Given the description of an element on the screen output the (x, y) to click on. 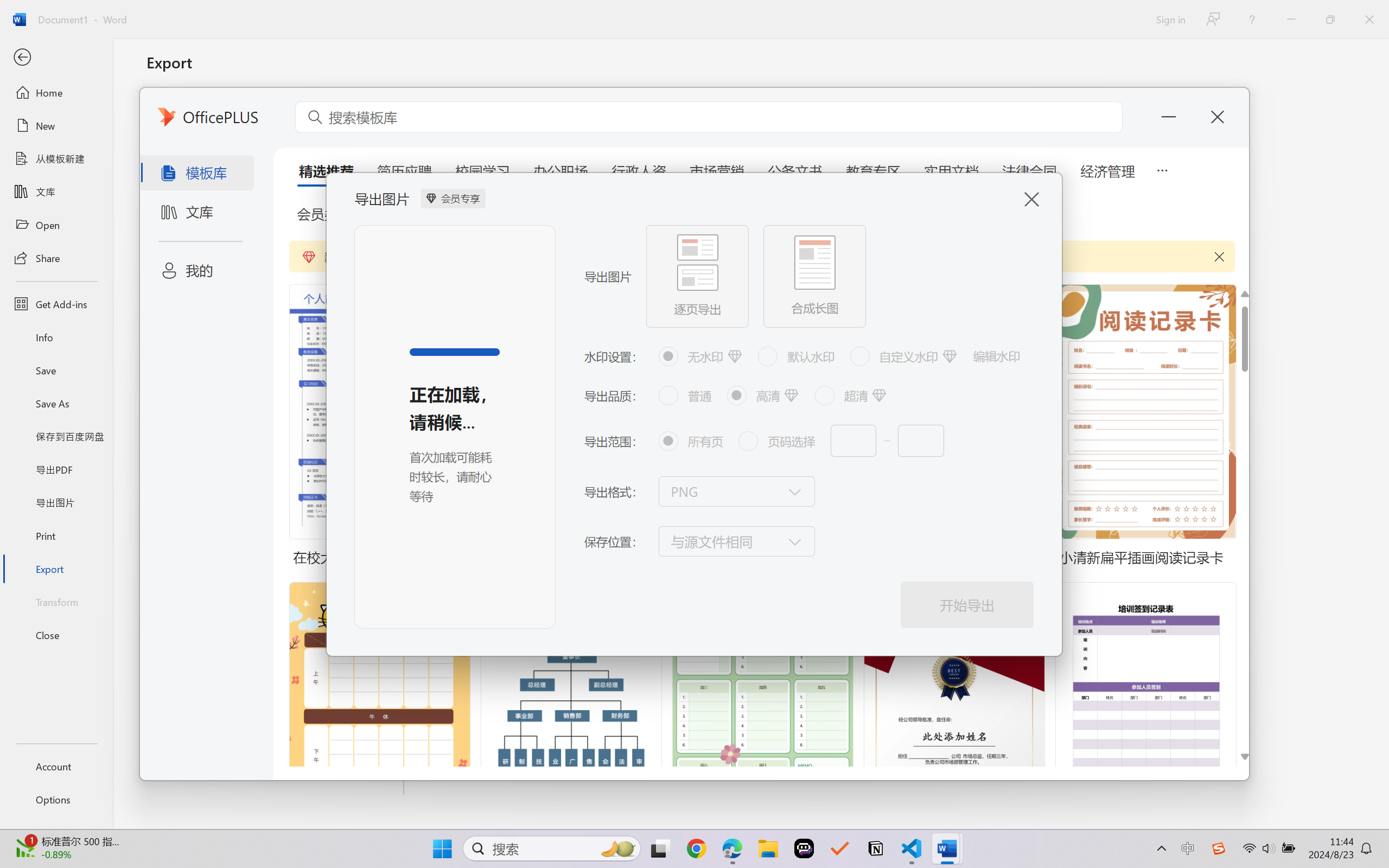
Save As (56, 403)
Account (56, 765)
